Given the description of an element on the screen output the (x, y) to click on. 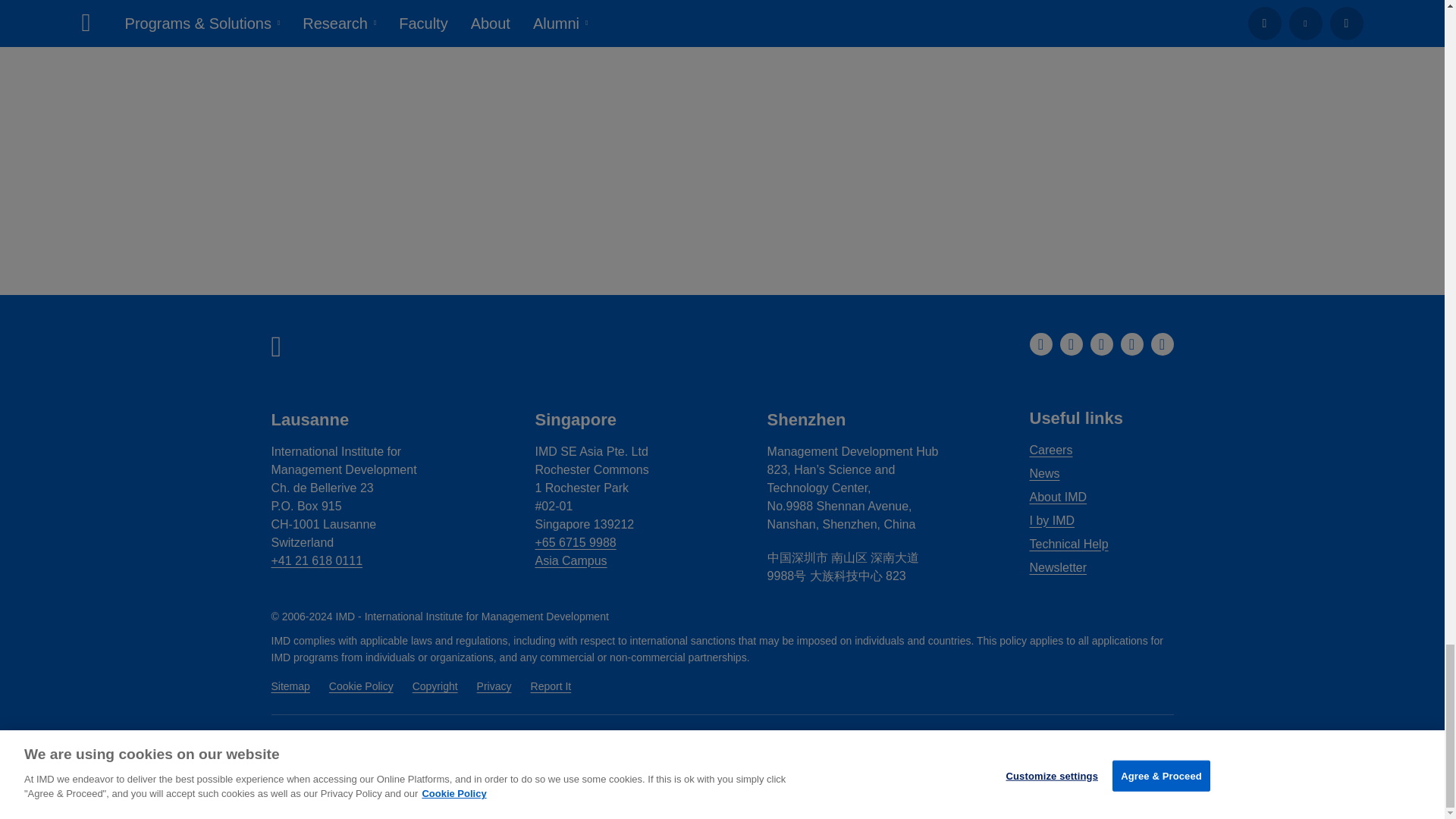
Instagram (1101, 343)
Facebook (1071, 343)
LinkedIn (1040, 343)
Twitter (1131, 343)
YouTube (1162, 343)
